Given the description of an element on the screen output the (x, y) to click on. 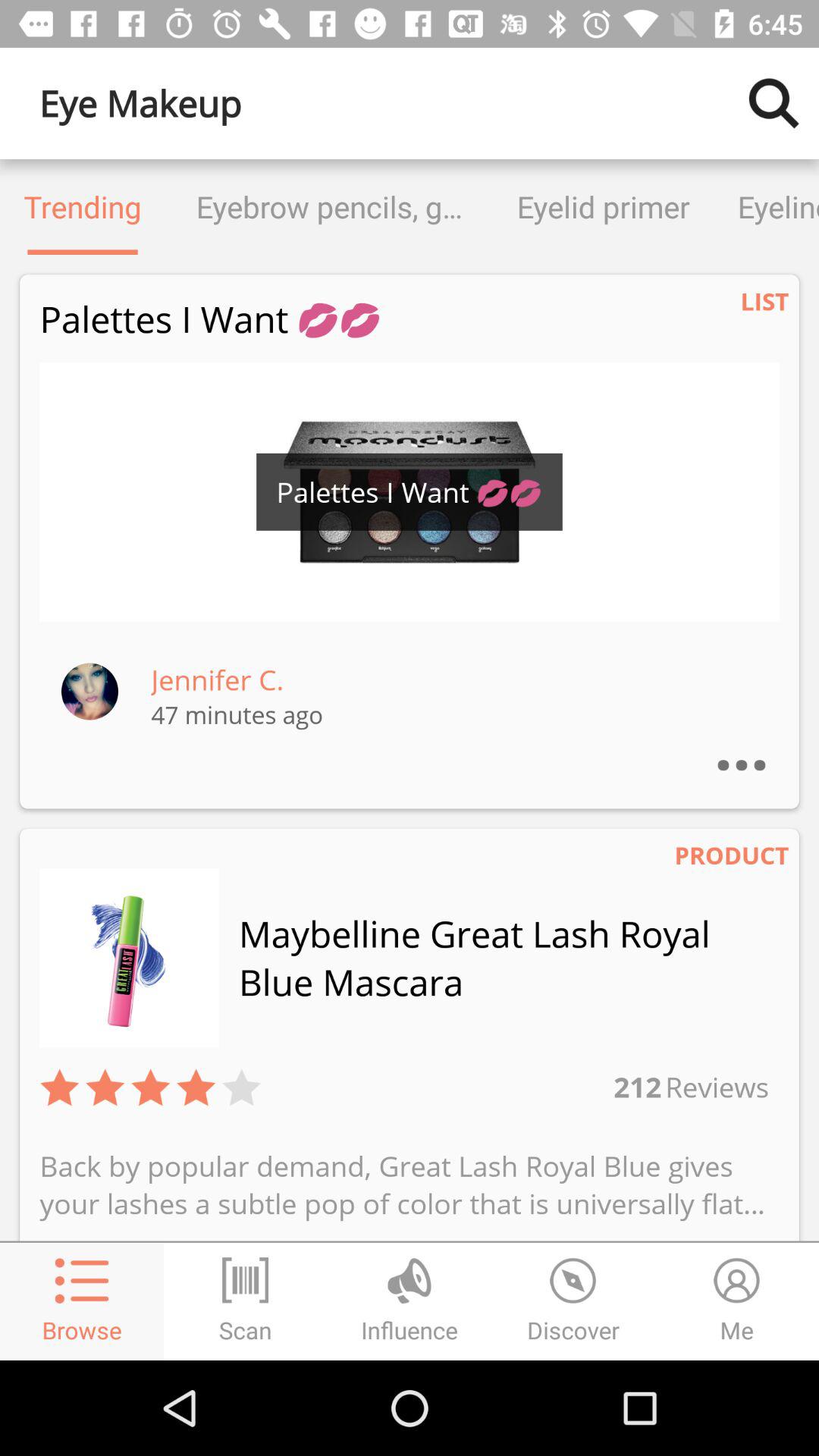
swipe until eyeliner icon (766, 206)
